Given the description of an element on the screen output the (x, y) to click on. 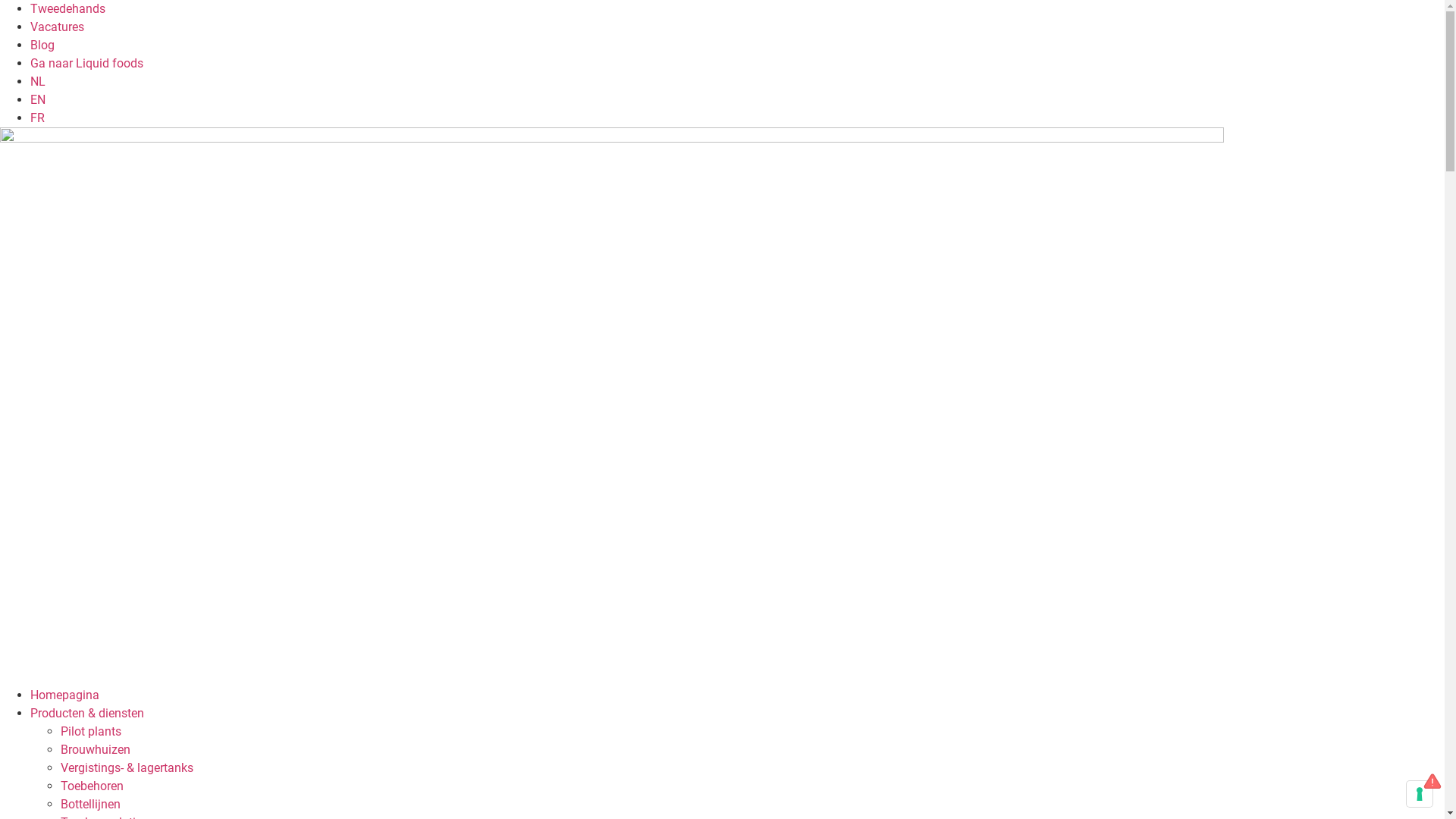
Producten & diensten Element type: text (87, 713)
Vergistings- & lagertanks Element type: text (126, 767)
Pilot plants Element type: text (90, 731)
Ga naar Liquid foods Element type: text (86, 63)
FR Element type: text (37, 117)
Vacatures Element type: text (57, 26)
Bottellijnen Element type: text (90, 804)
EN Element type: text (37, 99)
NL Element type: text (37, 81)
Toebehoren Element type: text (91, 785)
Blog Element type: text (42, 44)
Homepagina Element type: text (64, 694)
Brouwhuizen Element type: text (95, 749)
Tweedehands Element type: text (67, 8)
